Given the description of an element on the screen output the (x, y) to click on. 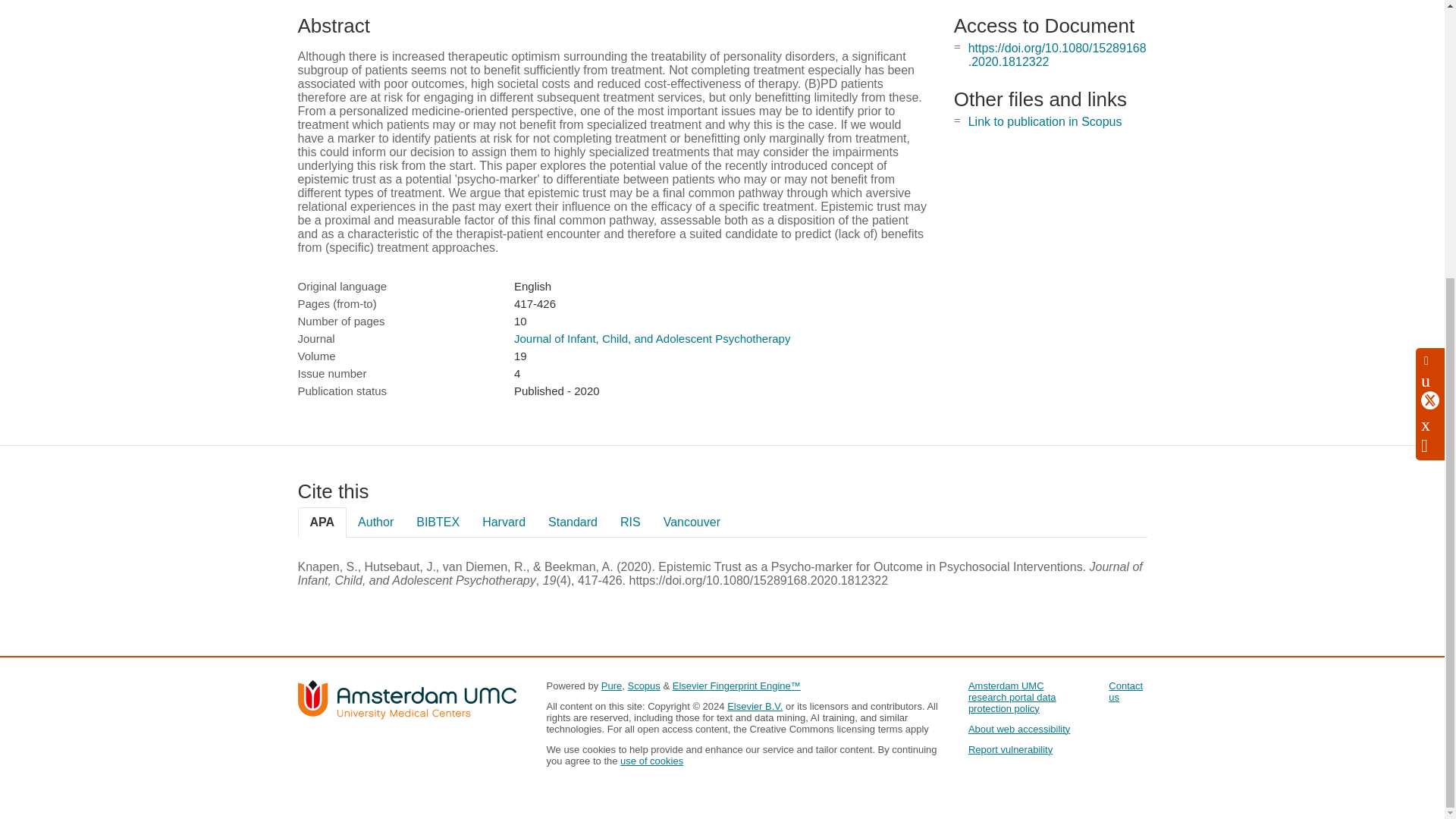
Report vulnerability (1010, 749)
Journal of Infant, Child, and Adolescent Psychotherapy (651, 338)
About web accessibility (1019, 728)
use of cookies (651, 760)
Contact us (1125, 691)
Amsterdam UMC research portal data protection policy (1012, 697)
Link to publication in Scopus (1045, 121)
Pure (611, 685)
Scopus (643, 685)
Elsevier B.V. (754, 706)
